Given the description of an element on the screen output the (x, y) to click on. 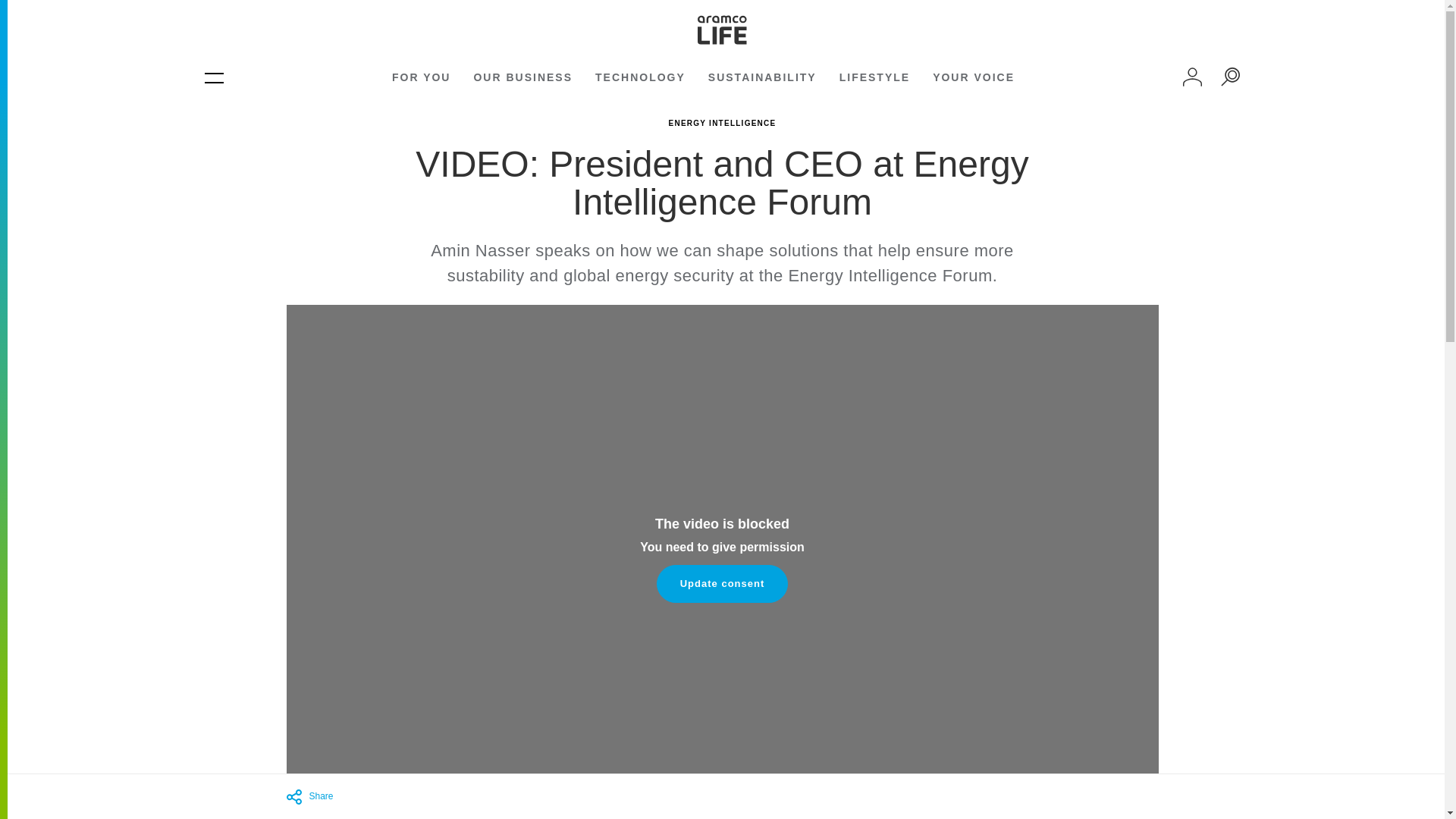
SUSTAINABILITY (761, 77)
login (1192, 76)
FOR YOU (421, 77)
OUR BUSINESS (522, 77)
LIFESTYLE (875, 77)
Update consent (722, 583)
YOUR VOICE (973, 77)
TECHNOLOGY (640, 77)
Share (482, 795)
